Given the description of an element on the screen output the (x, y) to click on. 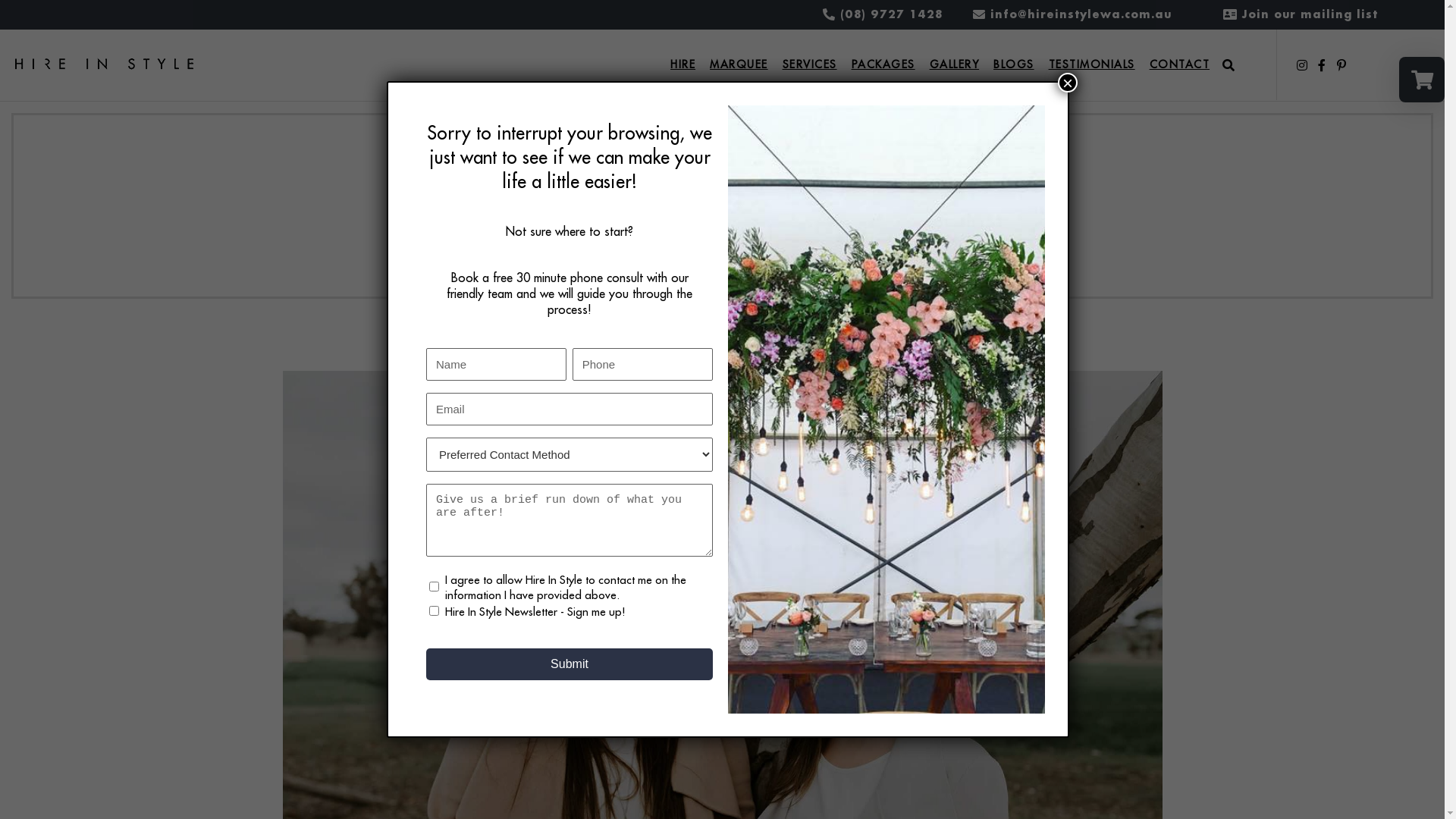
SERVICES Element type: text (809, 65)
GALLERY Element type: text (954, 65)
CONTACT Element type: text (1179, 65)
info@hireinstylewa.com.au Element type: text (1080, 13)
Join our mailing list Element type: text (1309, 13)
MARQUEE Element type: text (738, 65)
Skip to main content Element type: text (22, 0)
Submit Element type: text (569, 664)
HIRE Element type: text (682, 65)
TESTIMONIALS Element type: text (1091, 65)
BLOGS Element type: text (1013, 65)
PACKAGES Element type: text (883, 65)
(08) 9727 1428 Element type: text (891, 13)
Hire in Style logo Element type: hover (104, 63)
